Given the description of an element on the screen output the (x, y) to click on. 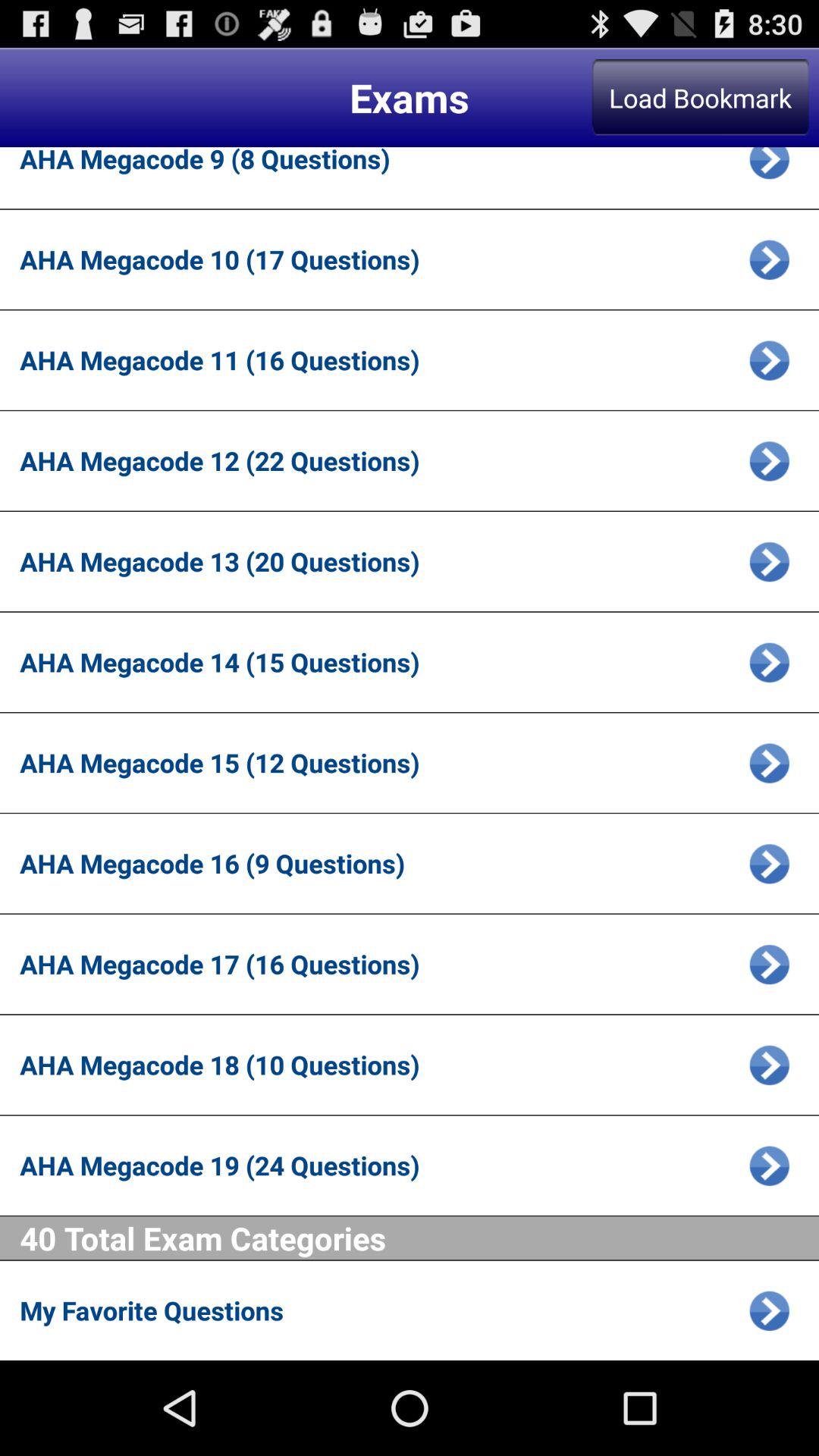
open test 'aha megacode 15 (769, 762)
